Given the description of an element on the screen output the (x, y) to click on. 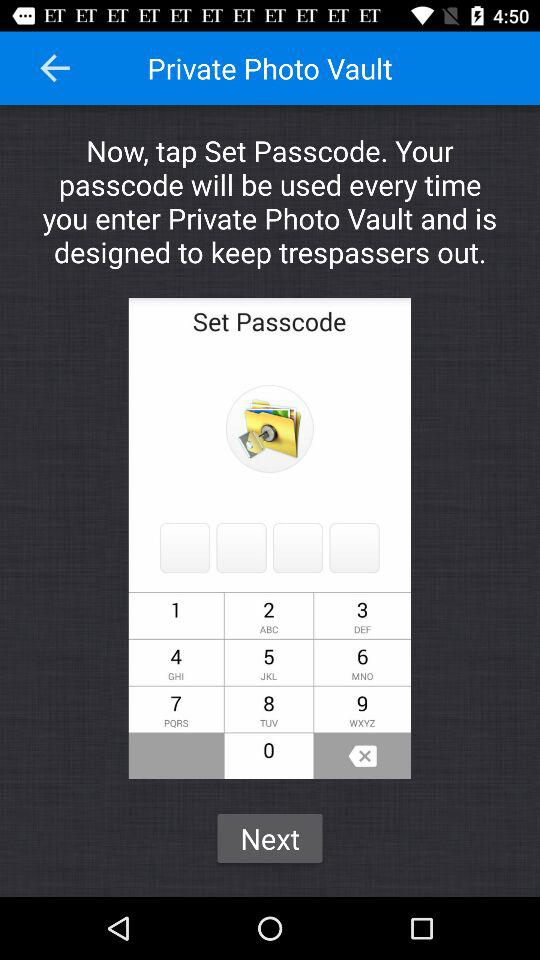
open the next icon (269, 837)
